Given the description of an element on the screen output the (x, y) to click on. 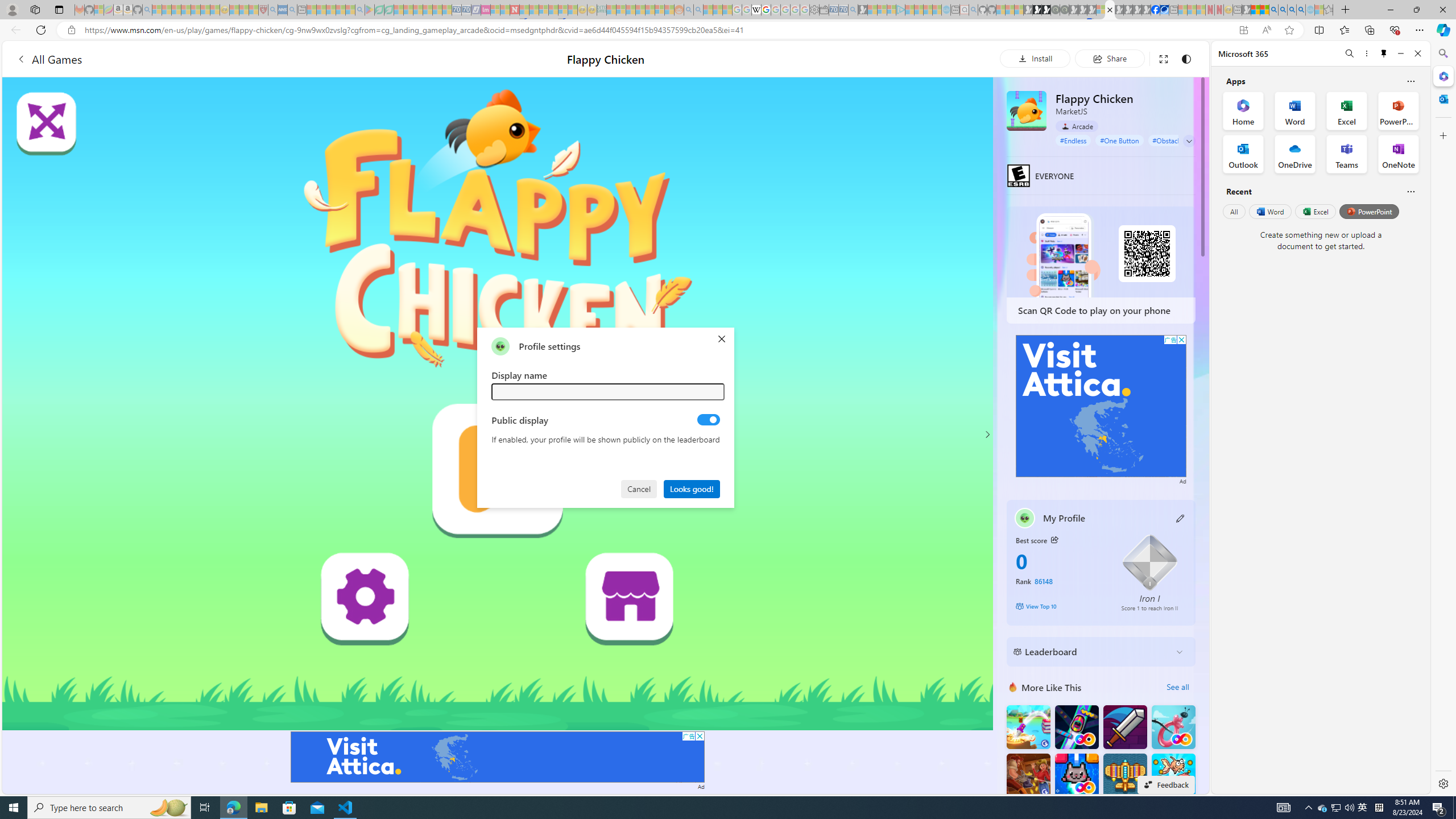
Collections (1369, 29)
utah sues federal government - Search - Sleeping (291, 9)
Change to dark mode (1185, 58)
View Top 10 (1060, 605)
Workspaces (34, 9)
Kitten Force FRVR (1076, 775)
Advertisement (1101, 405)
Search (1442, 53)
Cancel (639, 488)
""'s avatar (500, 345)
